Given the description of an element on the screen output the (x, y) to click on. 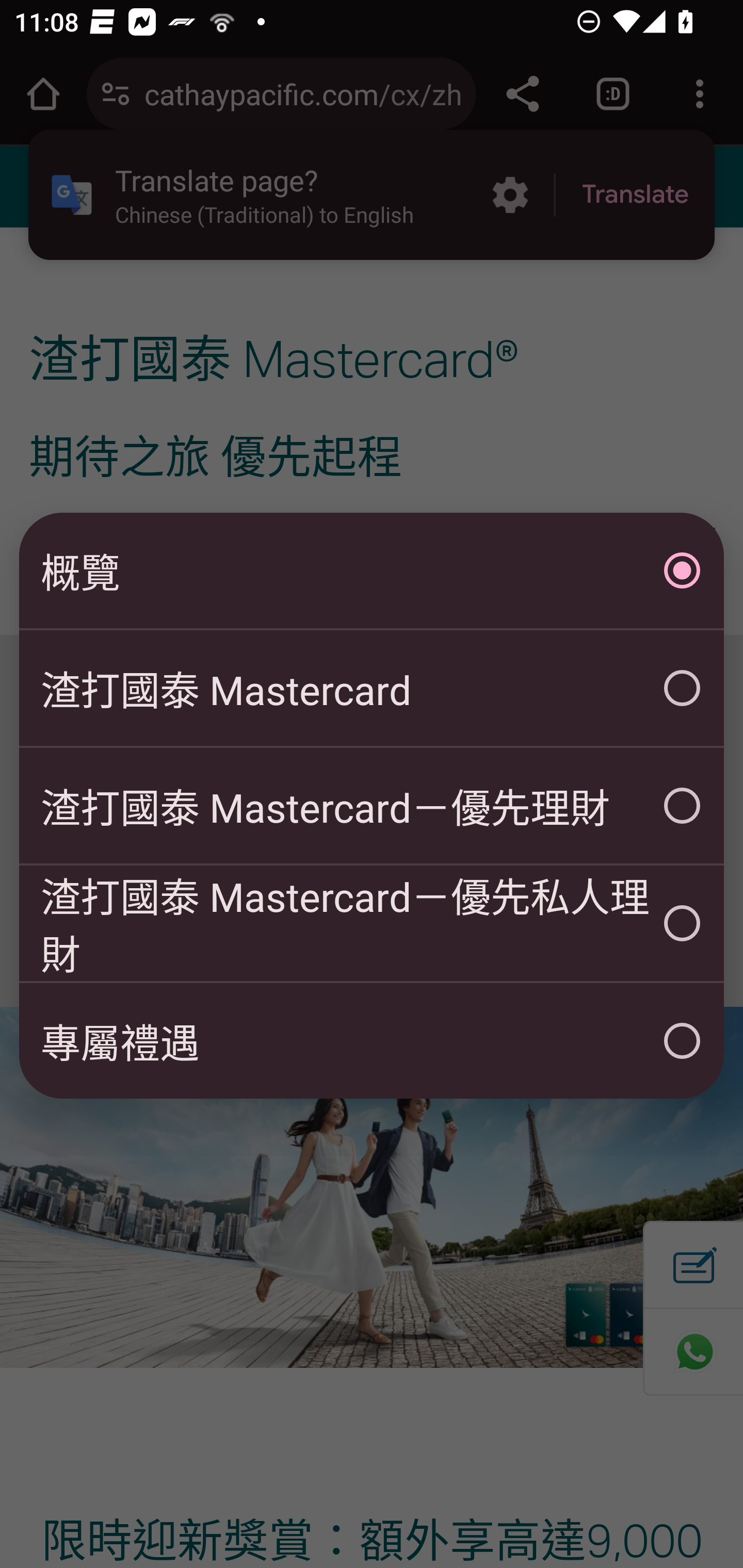
概覽 (371, 570)
渣打國泰 Mastercard (371, 688)
渣打國泰 Mastercard－優先理財 (371, 805)
渣打國泰 Mastercard－優先私人理財 (371, 923)
專屬禮遇 (371, 1041)
